Given the description of an element on the screen output the (x, y) to click on. 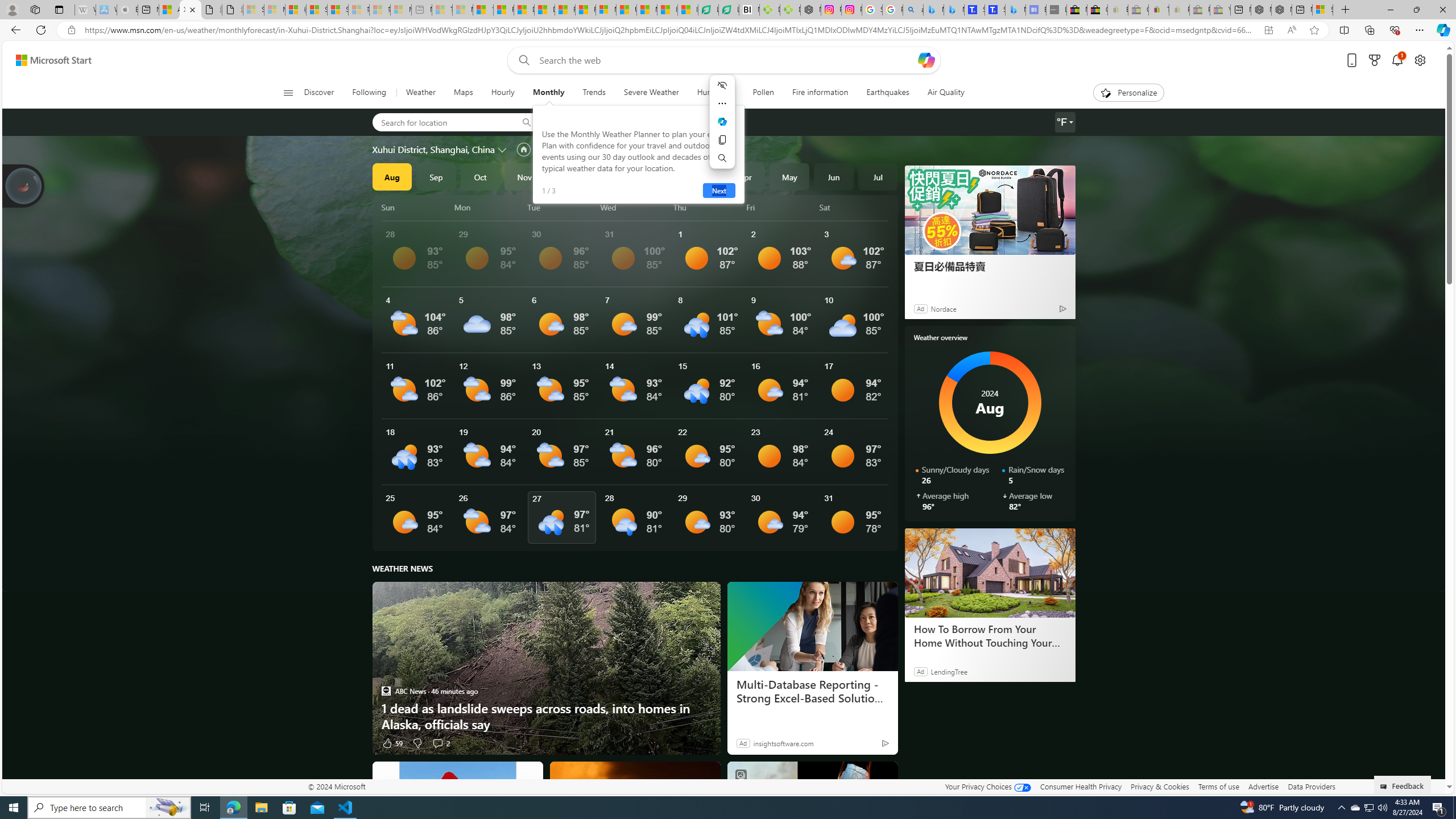
Ask Copilot (722, 122)
Microsoft account | Account Checkup - Sleeping (400, 9)
Open navigation menu (287, 92)
Weather (420, 92)
Pollen (763, 92)
Join us in planting real trees to help our planet! (23, 185)
Tue (561, 207)
Open settings (1420, 60)
Enter your search term (726, 59)
